Given the description of an element on the screen output the (x, y) to click on. 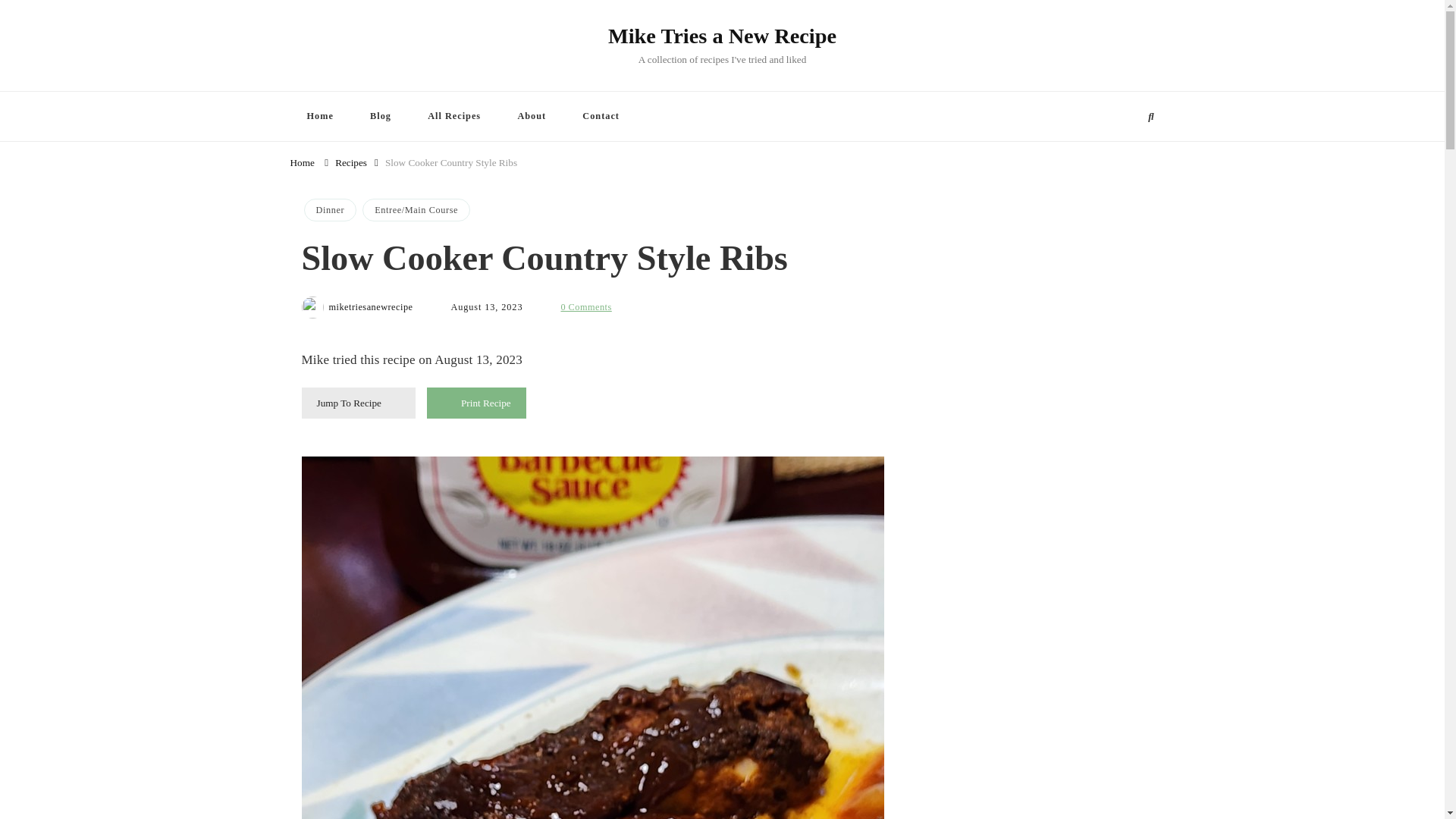
Home (319, 115)
About (531, 115)
Slow Cooker Country Style Ribs (450, 161)
Jump To Recipe (357, 402)
Contact (601, 115)
0 Comments (585, 307)
miketriesanewrecipe (371, 307)
Recipes (350, 161)
Blog (380, 115)
Home (301, 161)
Jump To Recipe (357, 402)
Print Recipe (475, 402)
Dinner (329, 210)
Search (1120, 117)
All Recipes (453, 115)
